Given the description of an element on the screen output the (x, y) to click on. 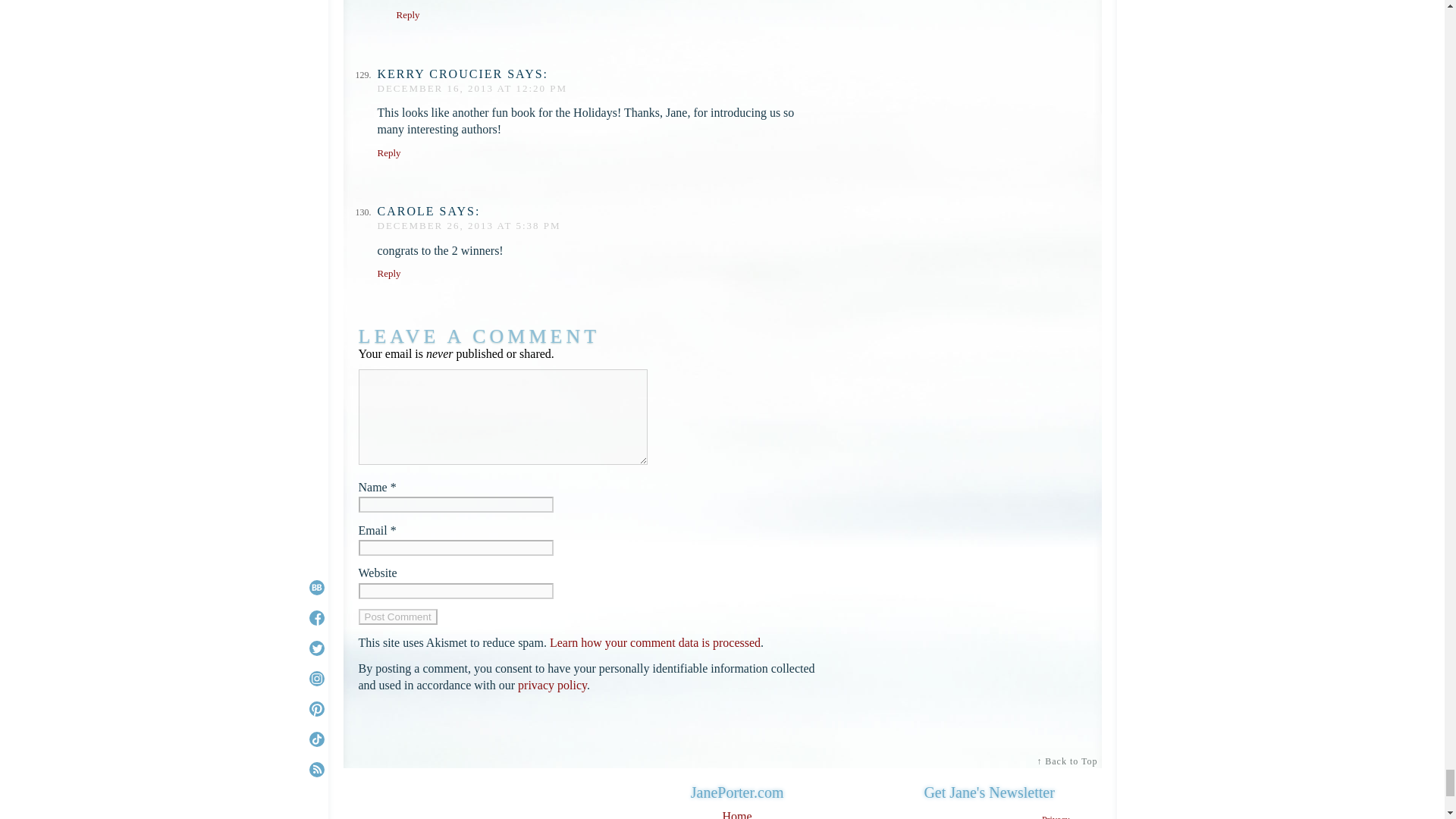
Post Comment (397, 616)
